Given the description of an element on the screen output the (x, y) to click on. 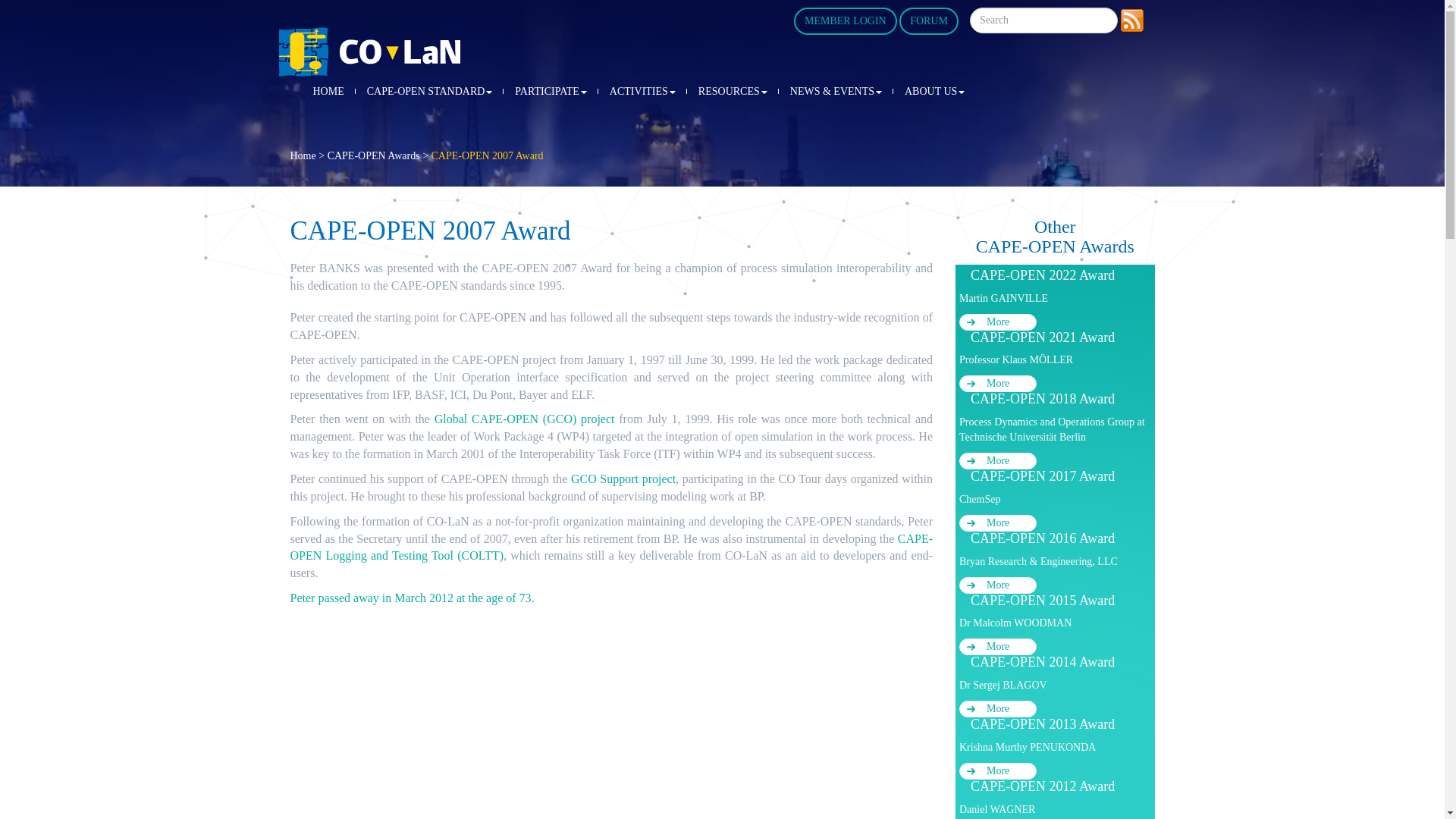
PARTICIPATE (550, 91)
MEMBER LOGIN (844, 21)
Go to the CAPE-OPEN Awards category archives. (373, 155)
FORUM (928, 21)
Go to the CAPE-OPEN Laboratories Network. (302, 155)
ABOUT US (934, 91)
ACTIVITIES (642, 91)
HOME (328, 91)
CAPE-OPEN STANDARD (429, 91)
RESOURCES (732, 91)
